Given the description of an element on the screen output the (x, y) to click on. 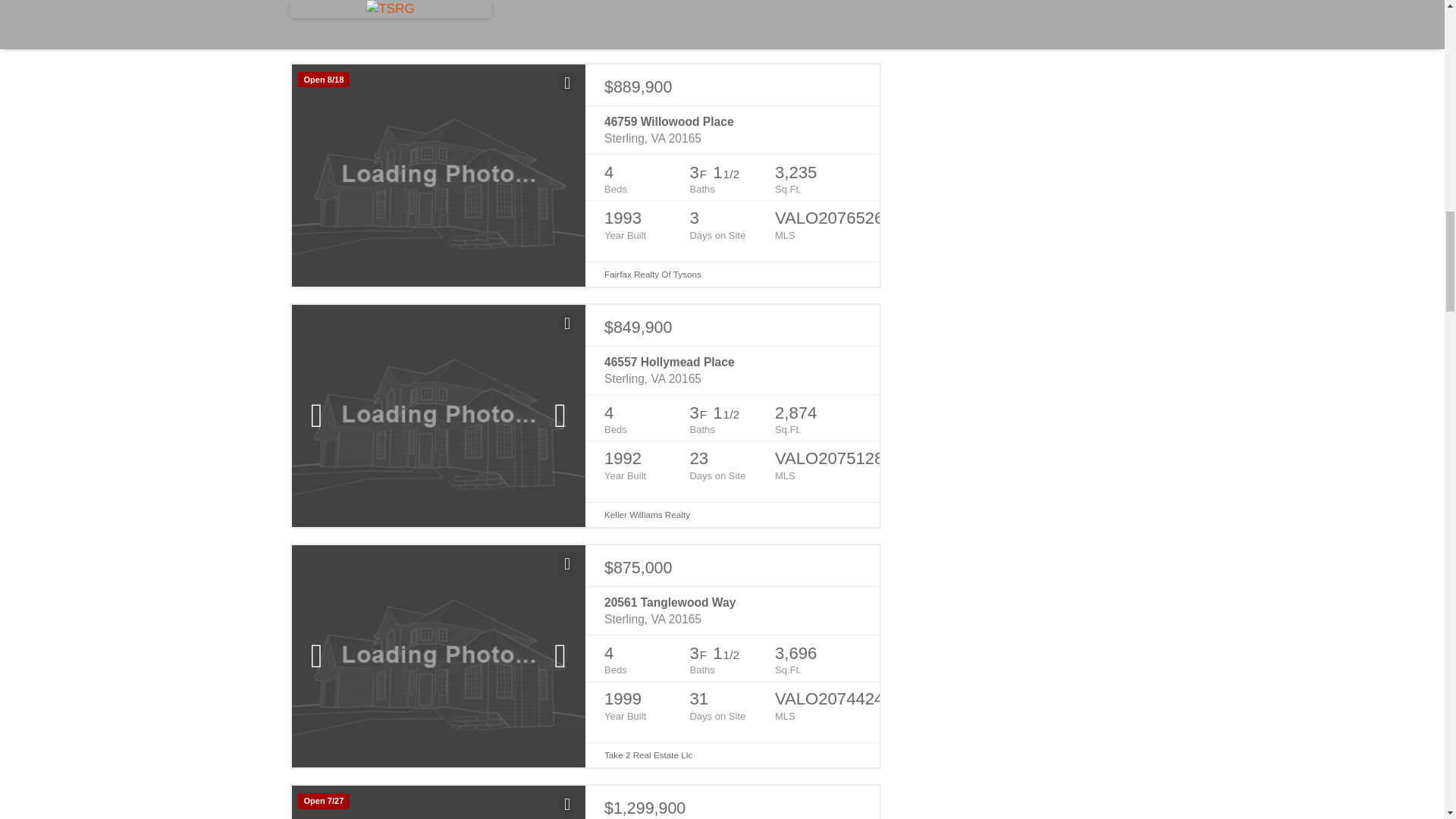
20561 Tanglewood Way Sterling,  VA 20165 (732, 611)
46759 Willowood Place Sterling,  VA 20165 (732, 130)
46557 Hollymead Place Sterling,  VA 20165 (732, 370)
